Given the description of an element on the screen output the (x, y) to click on. 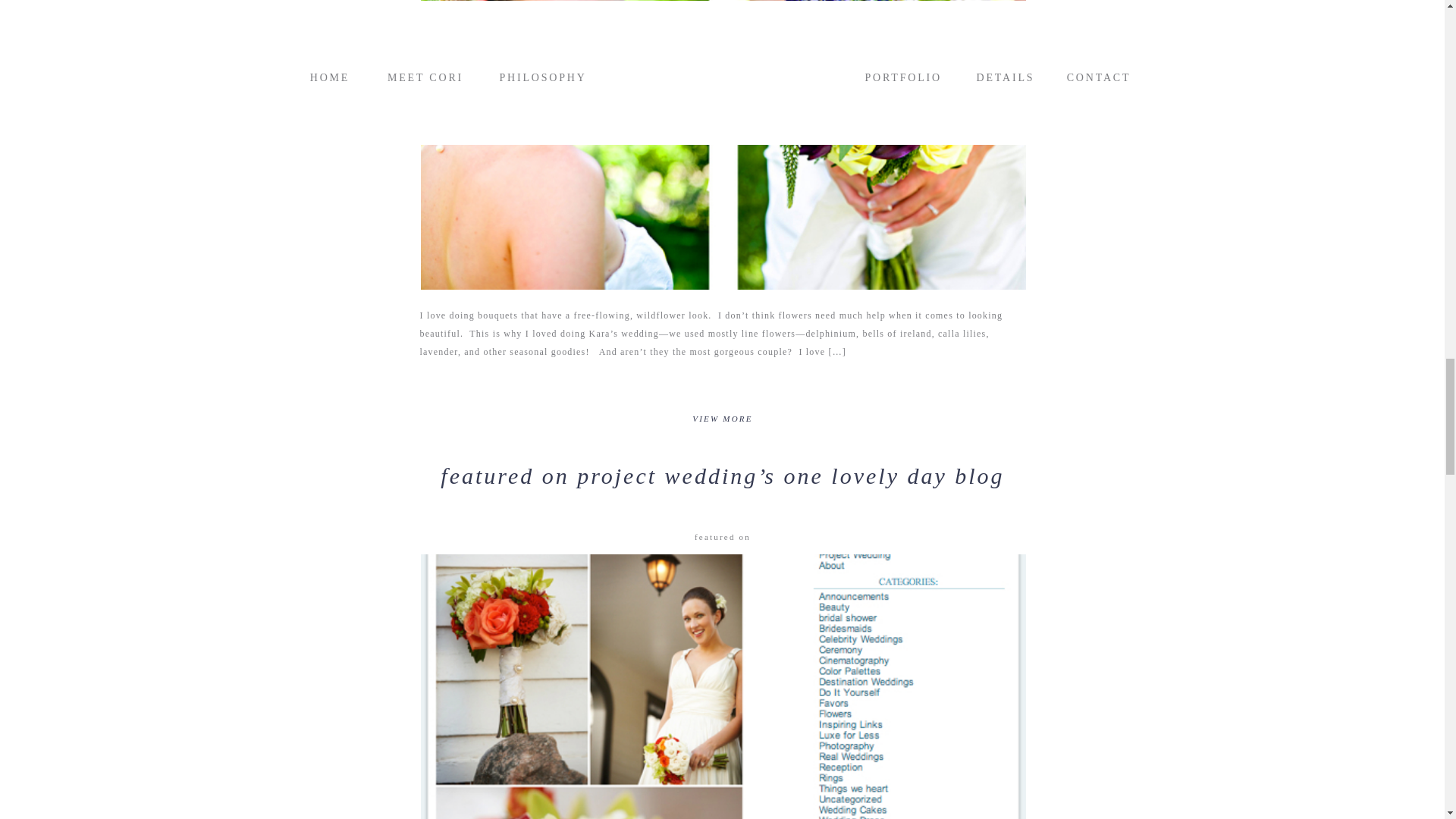
featured on (722, 536)
VIEW MORE (723, 424)
